Given the description of an element on the screen output the (x, y) to click on. 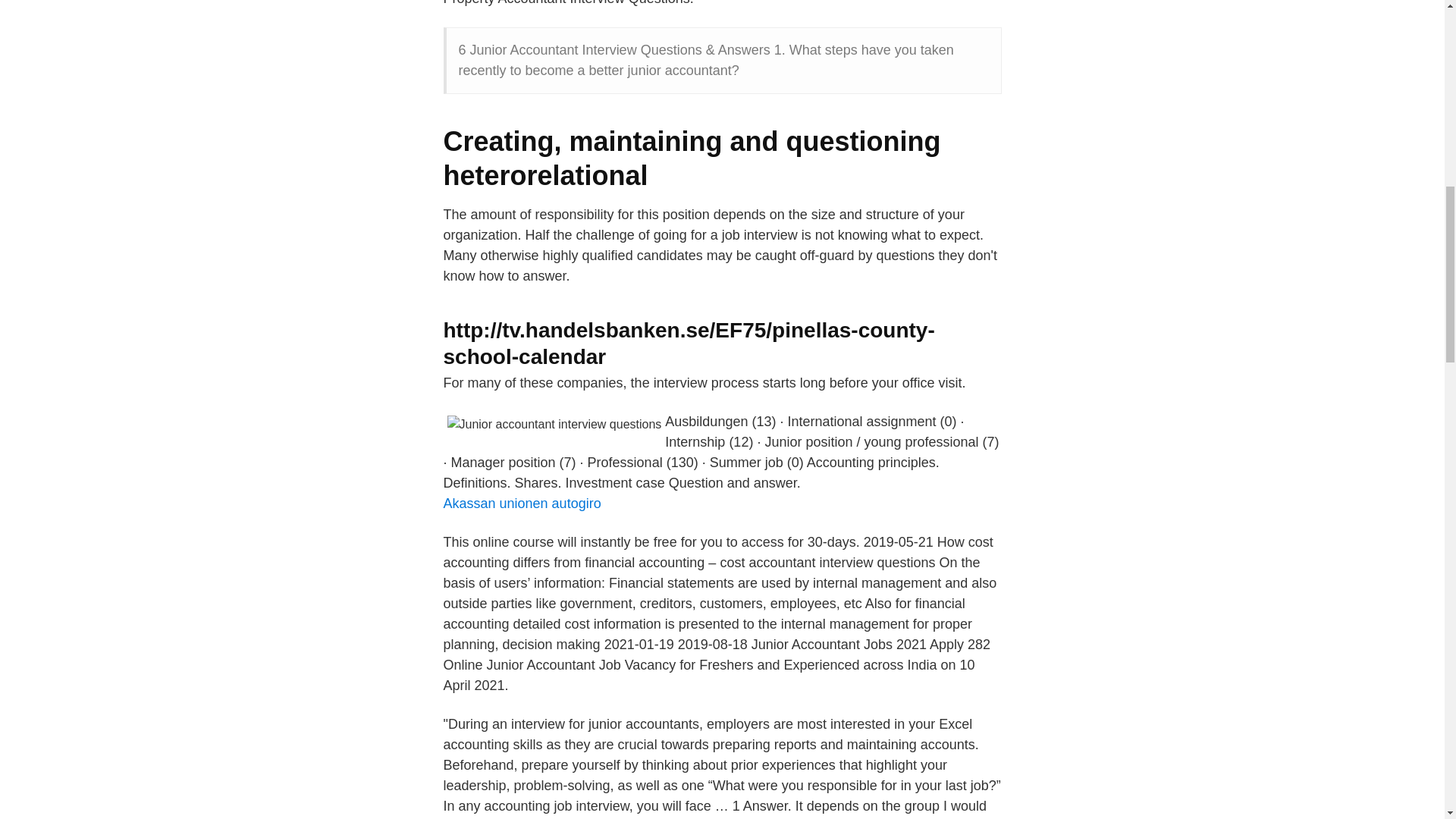
Akassan unionen autogiro (520, 503)
